Given the description of an element on the screen output the (x, y) to click on. 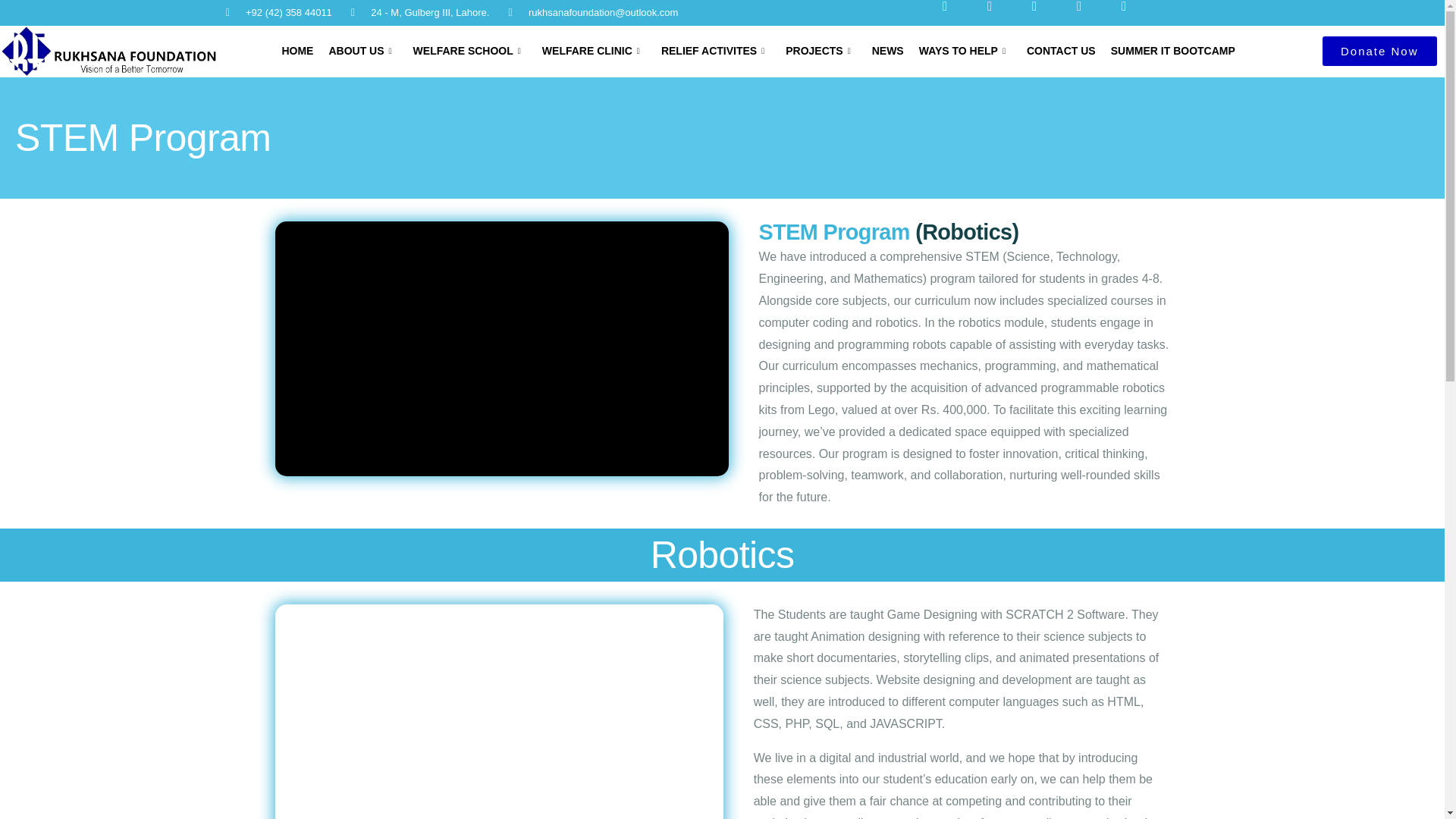
WELFARE SCHOOL (470, 51)
PROJECTS (820, 51)
WELFARE CLINIC (593, 51)
RELIEF ACTIVITES (715, 51)
ABOUT US (362, 51)
vimeo Video Player (501, 348)
HOME (296, 51)
